Given the description of an element on the screen output the (x, y) to click on. 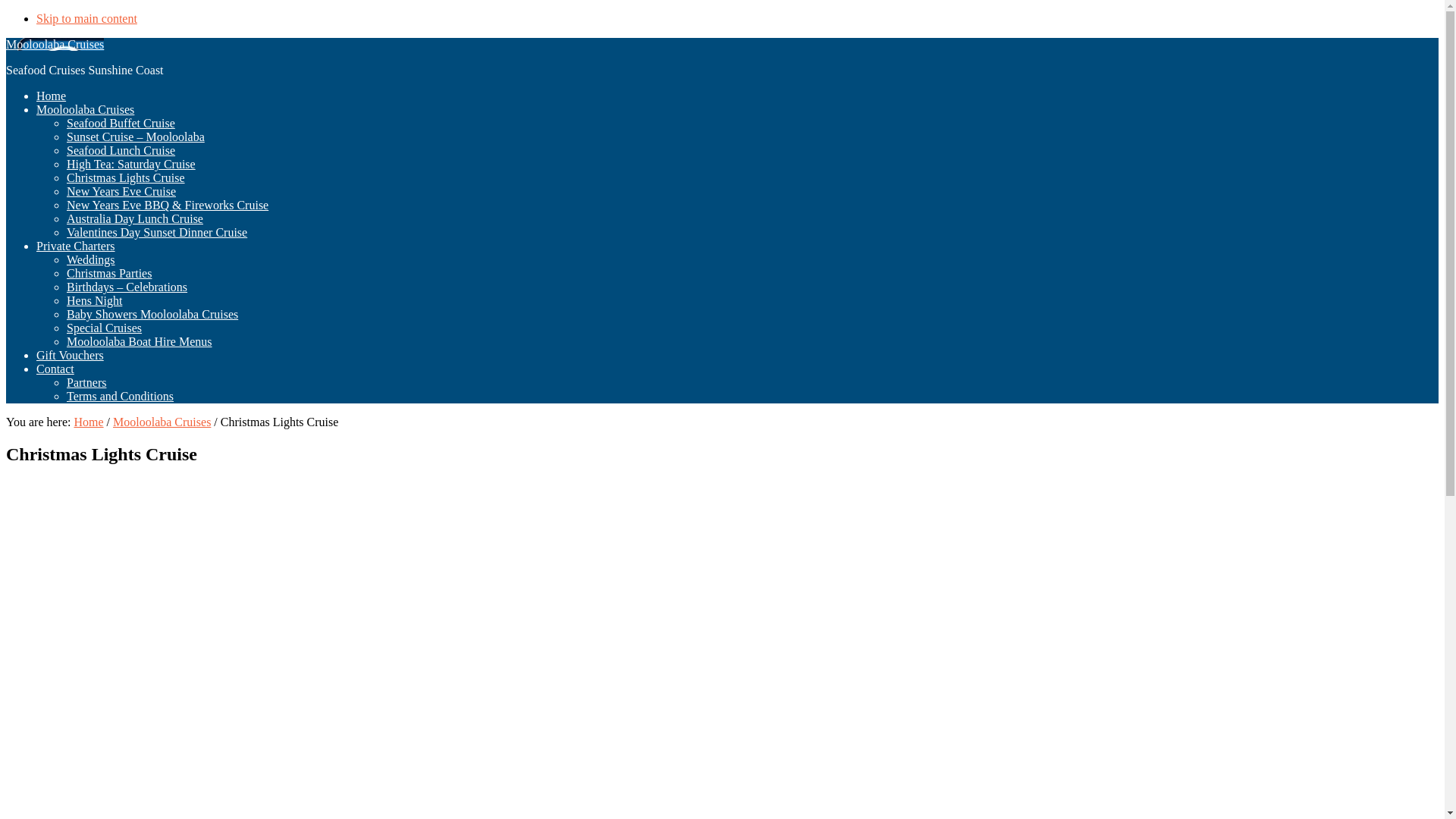
High Tea: Saturday Cruise Element type: text (130, 163)
Home Element type: text (88, 421)
Special Cruises Element type: text (103, 327)
Skip to main content Element type: text (86, 18)
Christmas Parties Element type: text (108, 272)
Mooloolaba Cruises Element type: text (85, 109)
Mooloolaba Boat Hire Menus Element type: text (139, 341)
Australia Day Lunch Cruise Element type: text (134, 218)
Baby Showers Mooloolaba Cruises Element type: text (152, 313)
Seafood Lunch Cruise Element type: text (120, 150)
Private Charters Element type: text (75, 245)
New Years Eve Cruise Element type: text (120, 191)
Christmas Lights Cruise Element type: text (125, 177)
Gift Vouchers Element type: text (69, 354)
Mooloolaba Cruises Element type: text (161, 421)
Contact Element type: text (55, 368)
Weddings Element type: text (90, 259)
Terms and Conditions Element type: text (119, 395)
Hens Night Element type: text (94, 300)
Home Element type: text (50, 95)
Valentines Day Sunset Dinner Cruise Element type: text (156, 231)
Mooloolaba Cruises Element type: text (54, 43)
Seafood Buffet Cruise Element type: text (120, 122)
Partners Element type: text (86, 382)
New Years Eve BBQ & Fireworks Cruise Element type: text (167, 204)
